Given the description of an element on the screen output the (x, y) to click on. 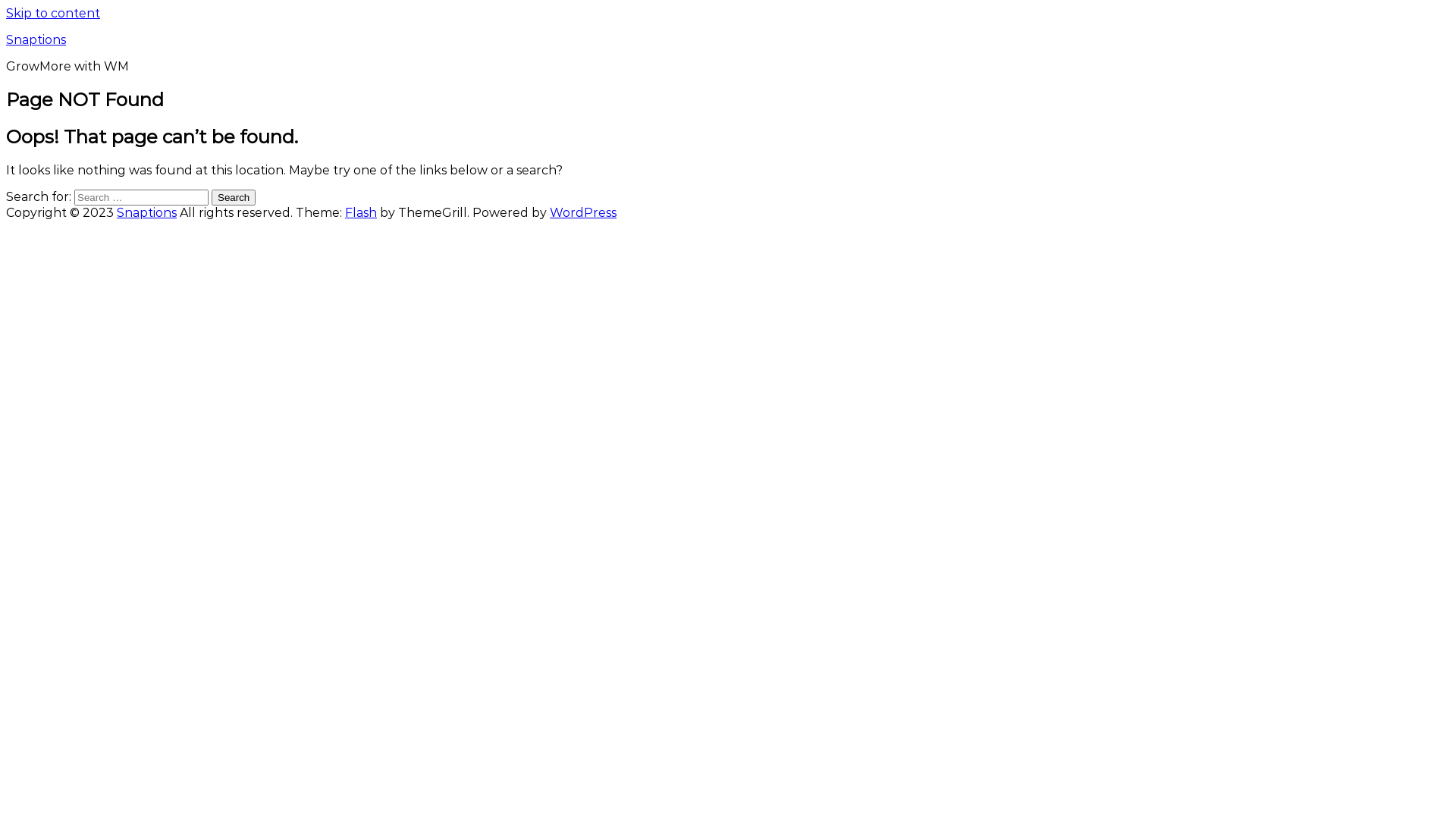
Search Element type: text (233, 197)
Flash Element type: text (360, 212)
WordPress Element type: text (582, 212)
Snaptions Element type: text (35, 39)
Skip to content Element type: text (53, 13)
Snaptions Element type: text (146, 212)
